Given the description of an element on the screen output the (x, y) to click on. 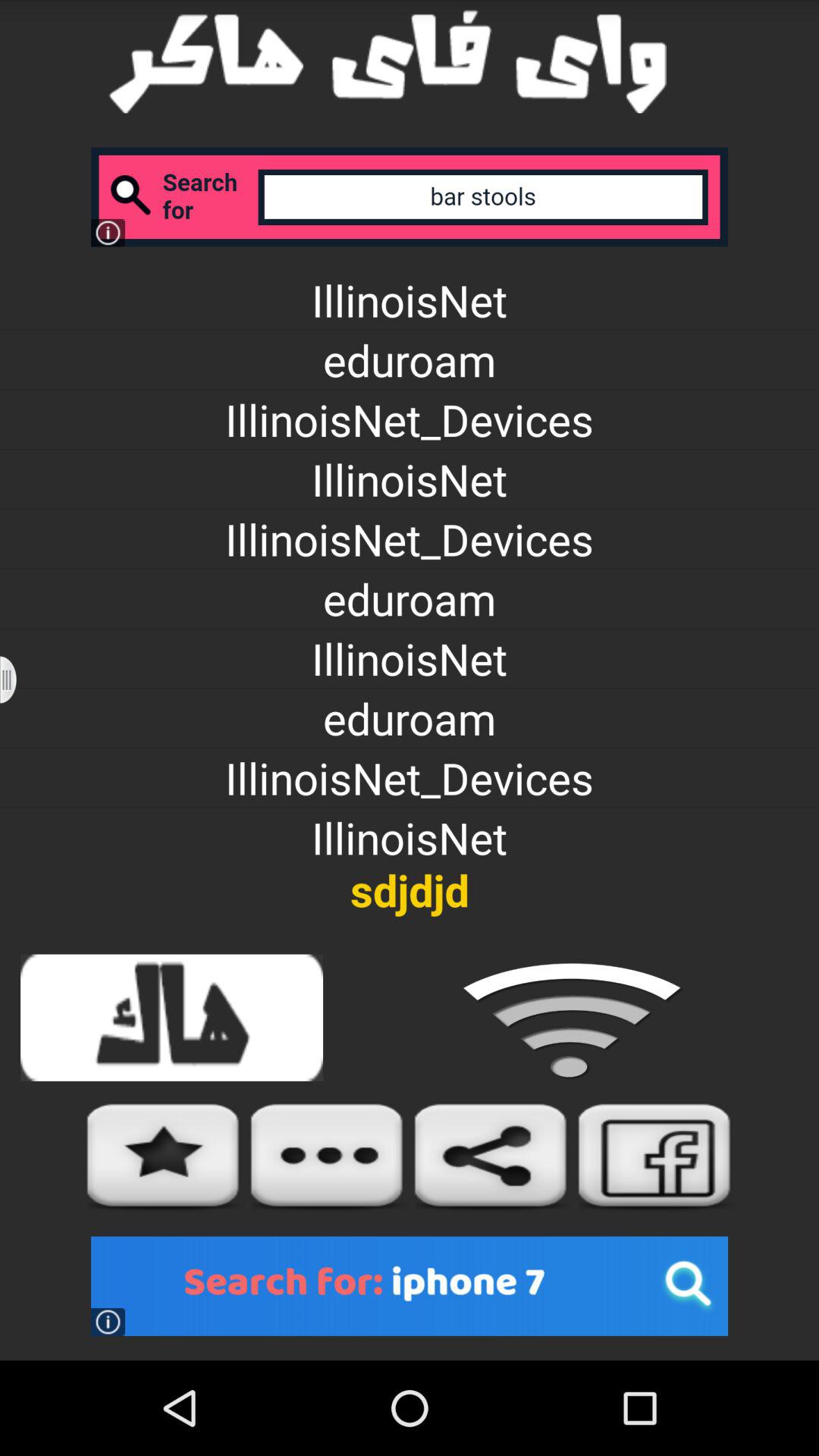
click the item above the illinoisnet (409, 196)
